Given the description of an element on the screen output the (x, y) to click on. 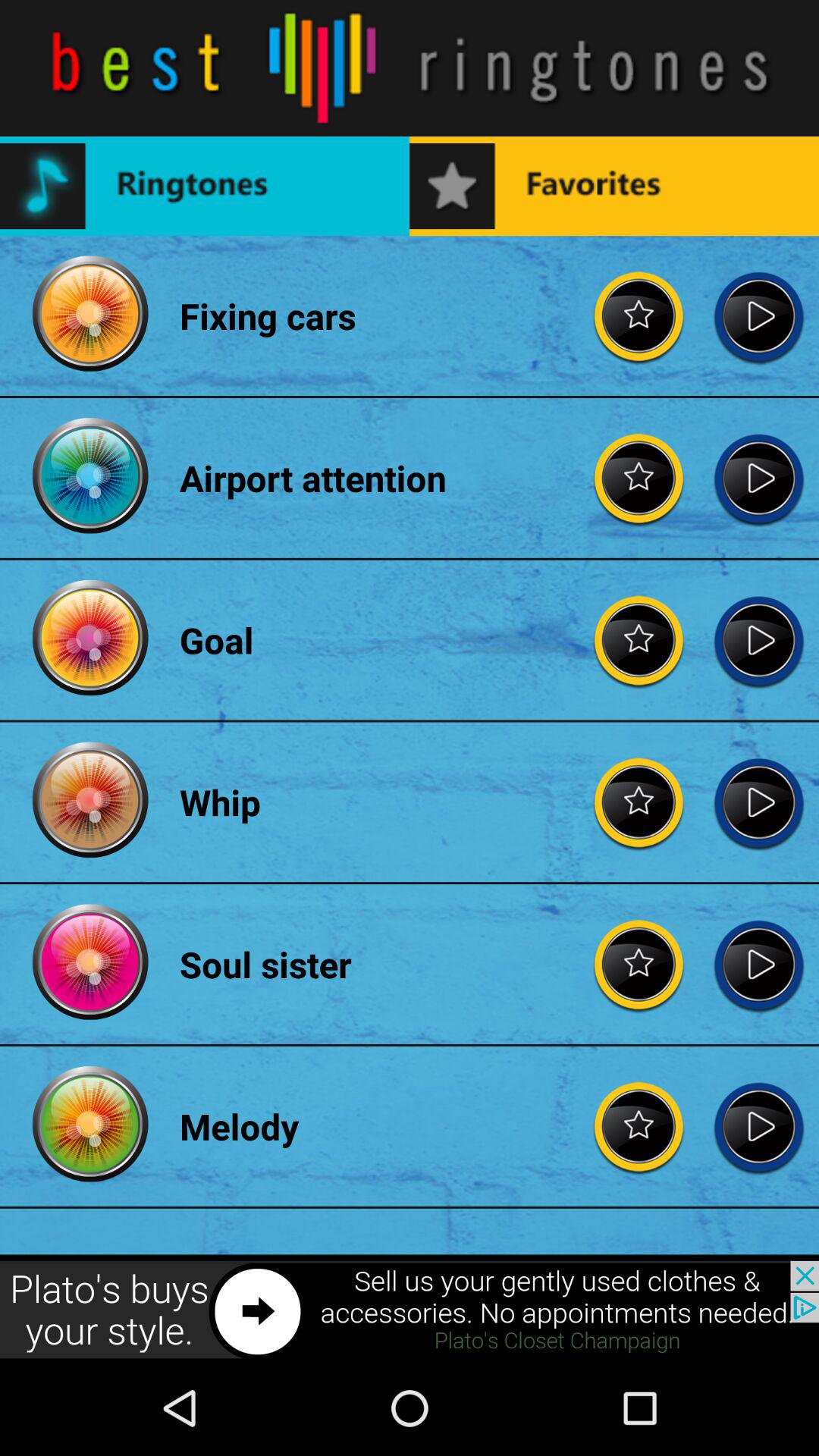
giving rating to song (639, 639)
